Given the description of an element on the screen output the (x, y) to click on. 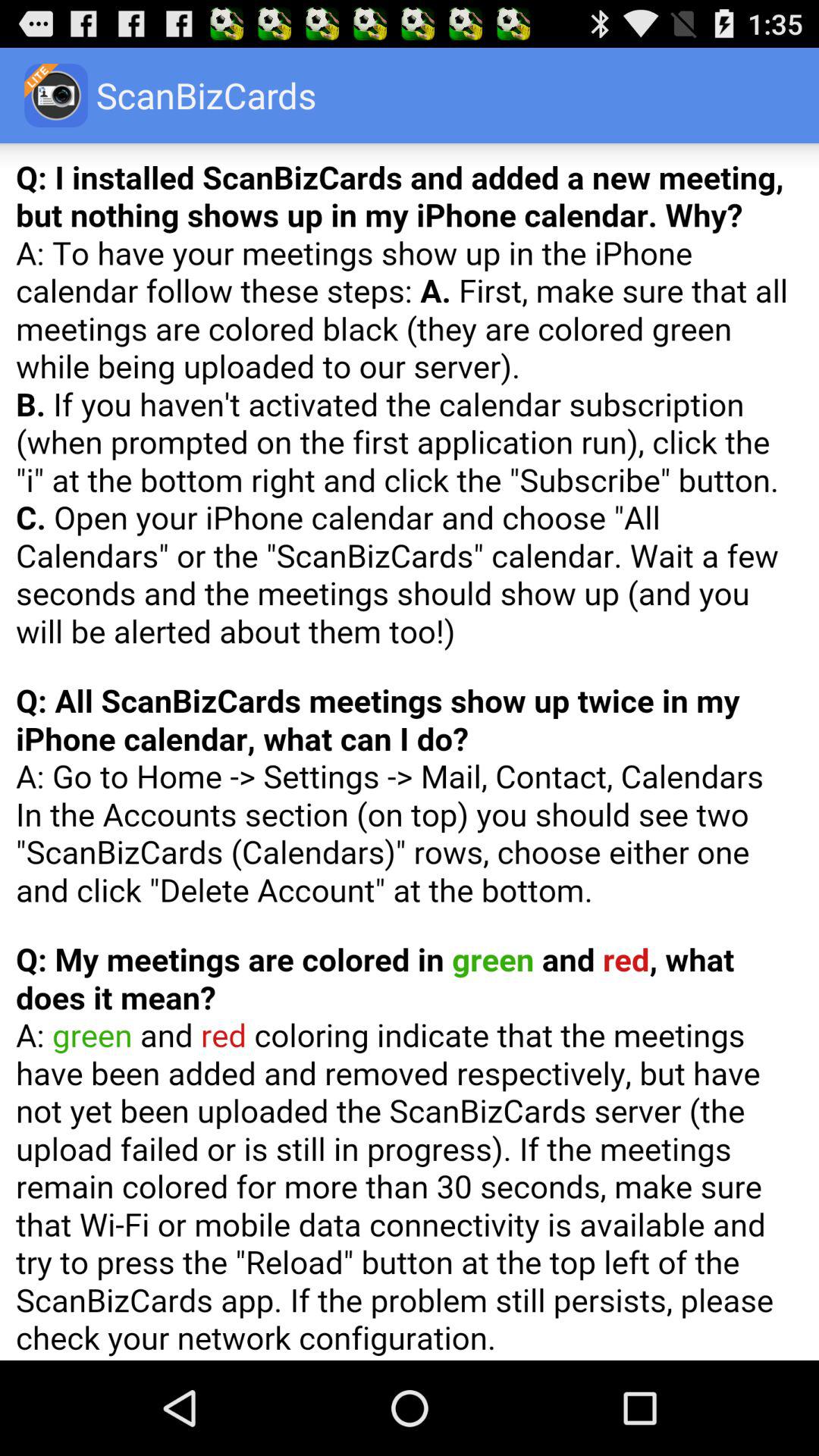
colour pinter (409, 751)
